Given the description of an element on the screen output the (x, y) to click on. 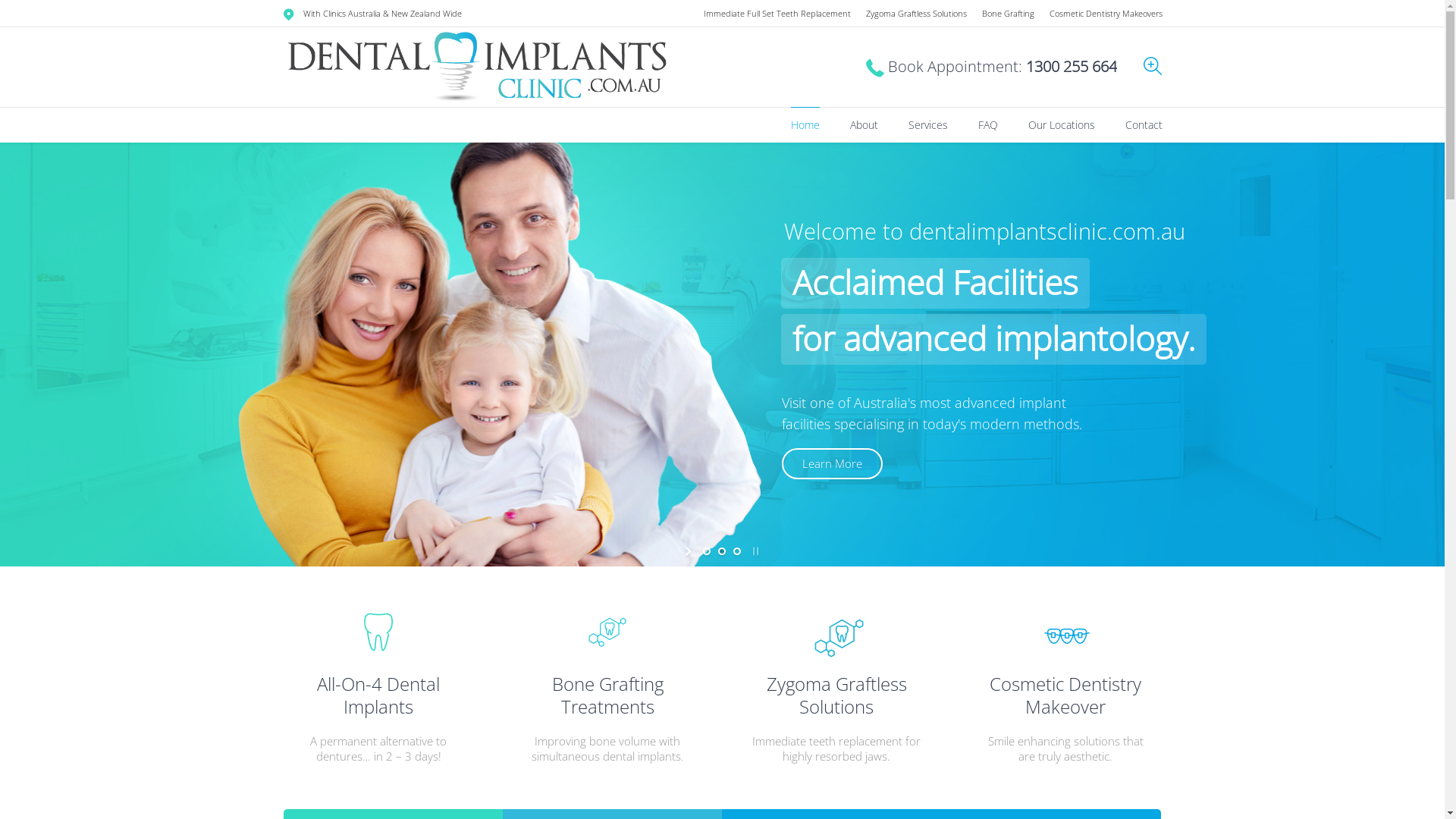
Immediate Full Set Teeth Replacement Element type: text (776, 13)
About Element type: text (863, 124)
With Clinics Australia & New Zealand Wide Element type: text (380, 12)
Zygoma Graftless Solutions Element type: text (916, 13)
Services Element type: text (927, 124)
Our Locations Element type: text (1061, 124)
Contact Element type: text (1143, 124)
Home Element type: text (804, 124)
Bone Grafting Element type: text (1007, 13)
Learn More Element type: text (831, 463)
FAQ Element type: text (987, 124)
Cosmetic Dentistry Makeovers Element type: text (1105, 13)
